Given the description of an element on the screen output the (x, y) to click on. 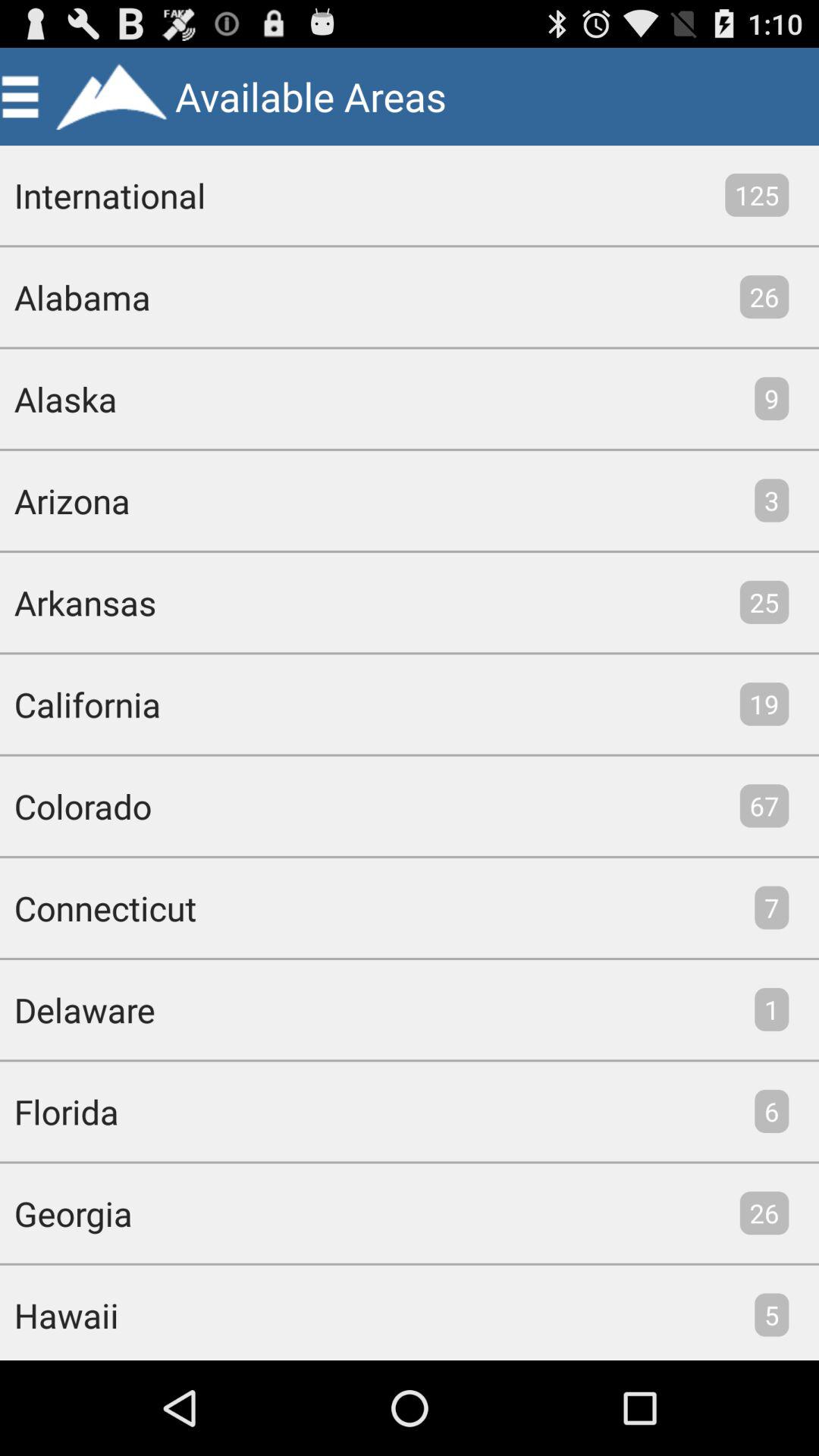
select icon to the right of florida item (771, 1110)
